Given the description of an element on the screen output the (x, y) to click on. 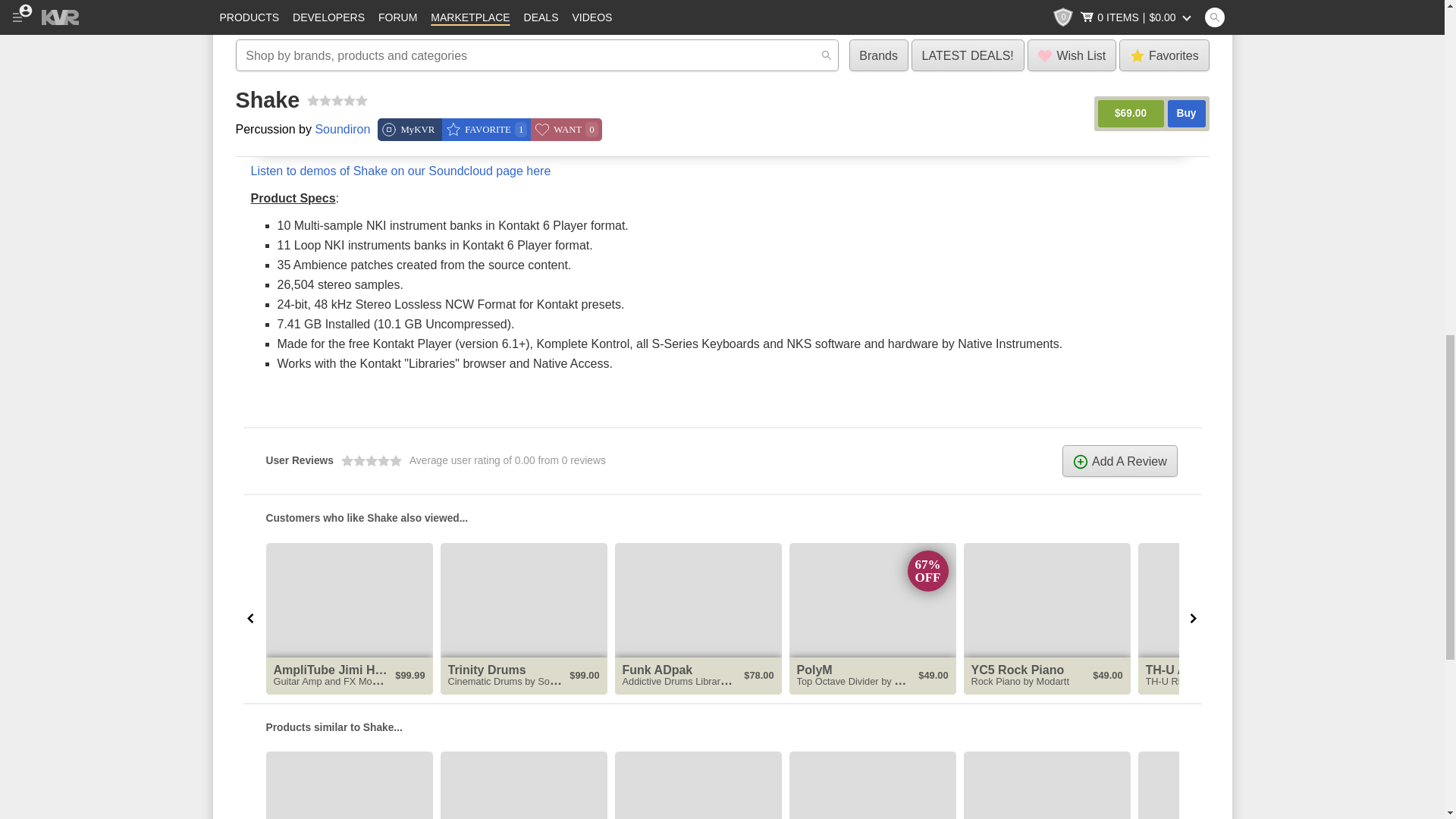
Customers who like Shake also viewed... (722, 517)
Products similar to Shake... (722, 726)
